Given the description of an element on the screen output the (x, y) to click on. 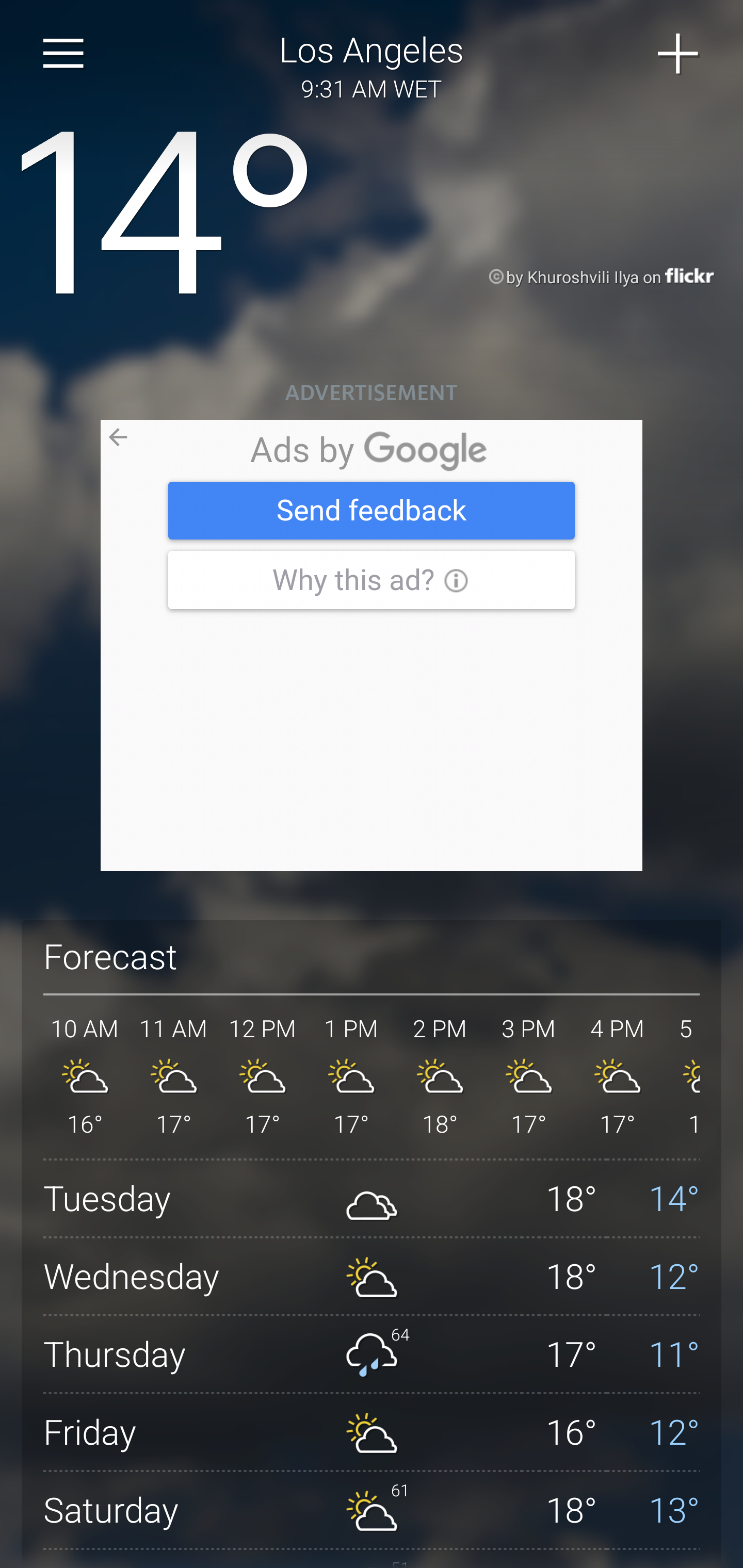
Sidebar (64, 54)
Add City (678, 53)
Advertisement (371, 645)
